Given the description of an element on the screen output the (x, y) to click on. 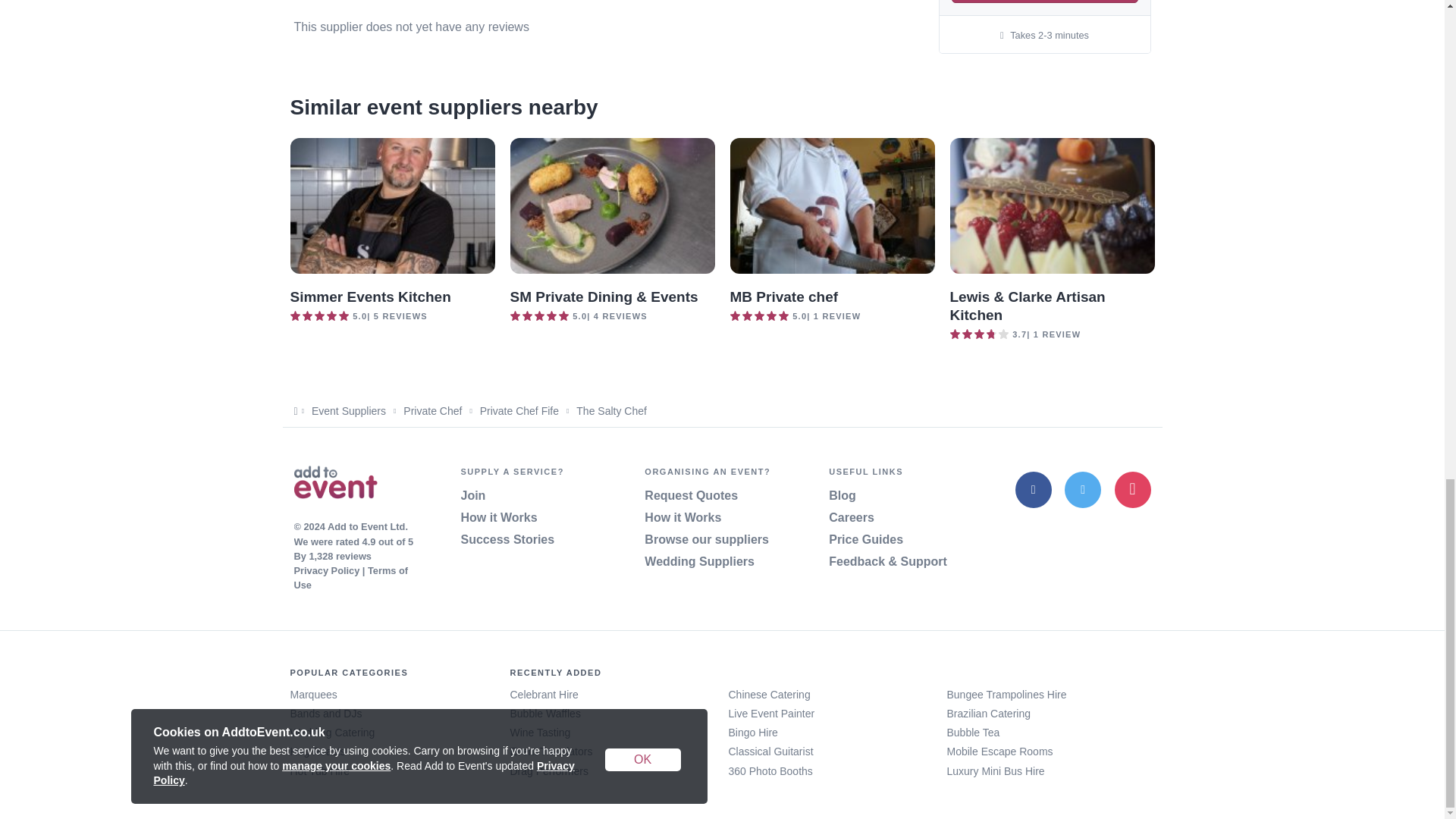
Home (335, 485)
